Given the description of an element on the screen output the (x, y) to click on. 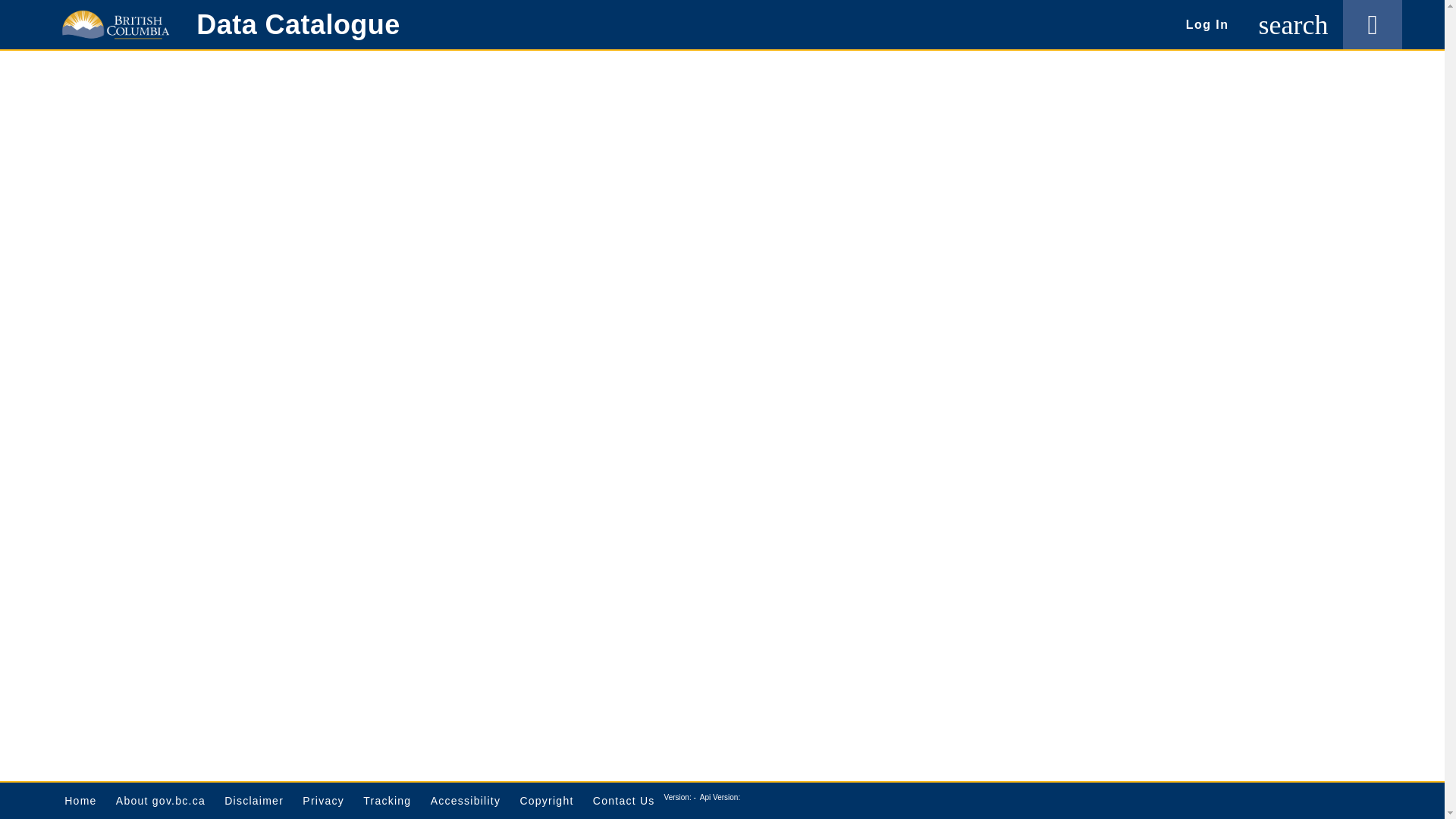
Copyright Element type: text (545, 800)
Data Catalogue Element type: text (297, 24)
About gov.bc.ca Element type: text (160, 800)
Privacy Element type: text (322, 800)
Home Element type: text (80, 800)
Tracking Element type: text (386, 800)
search Element type: text (1293, 24)
Contact Us Element type: text (623, 800)
Log In Element type: text (1206, 24)
Disclaimer Element type: text (253, 800)
Accessibility Element type: text (464, 800)
